Given the description of an element on the screen output the (x, y) to click on. 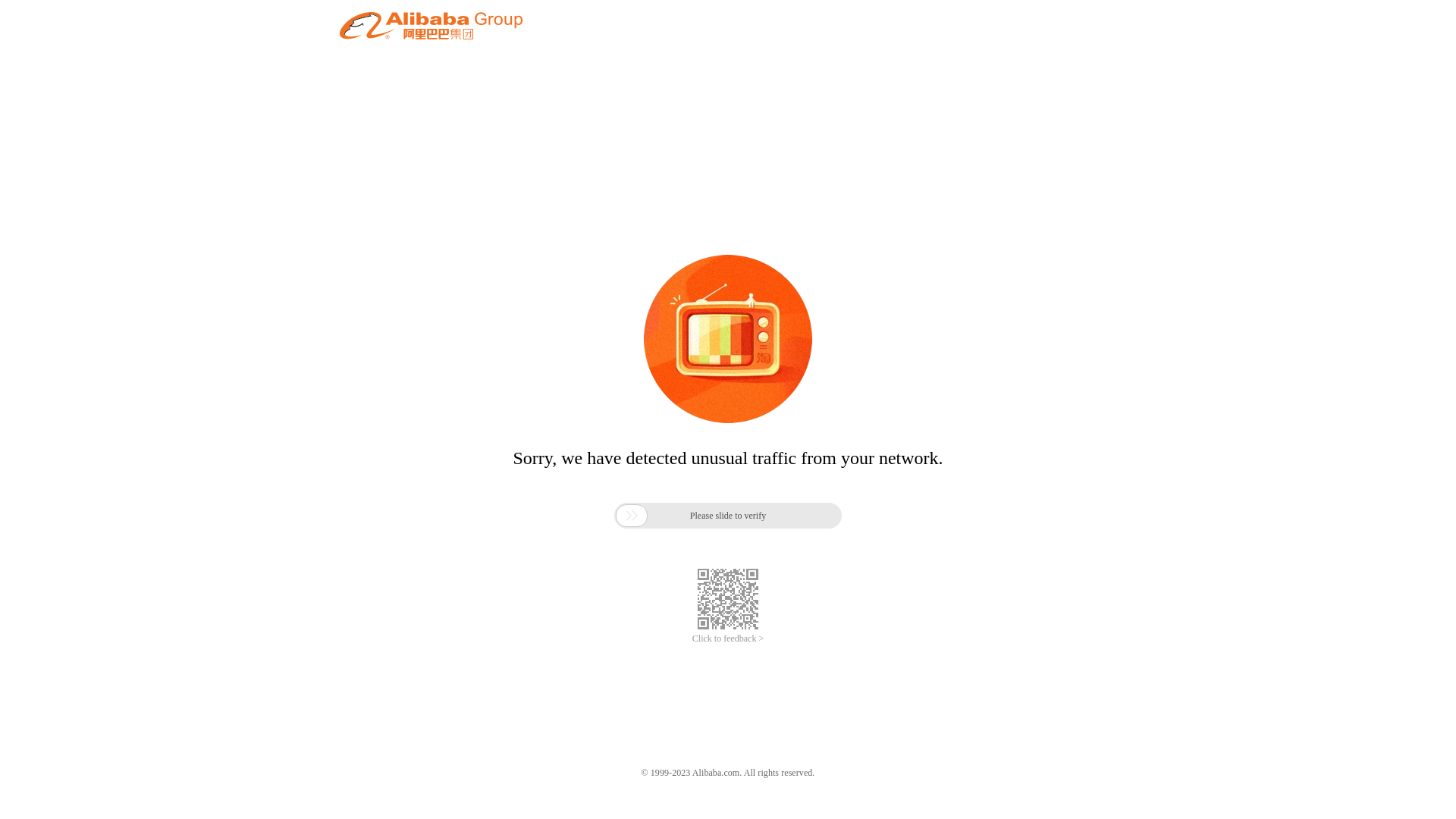
Click to feedback > Element type: text (727, 638)
